Given the description of an element on the screen output the (x, y) to click on. 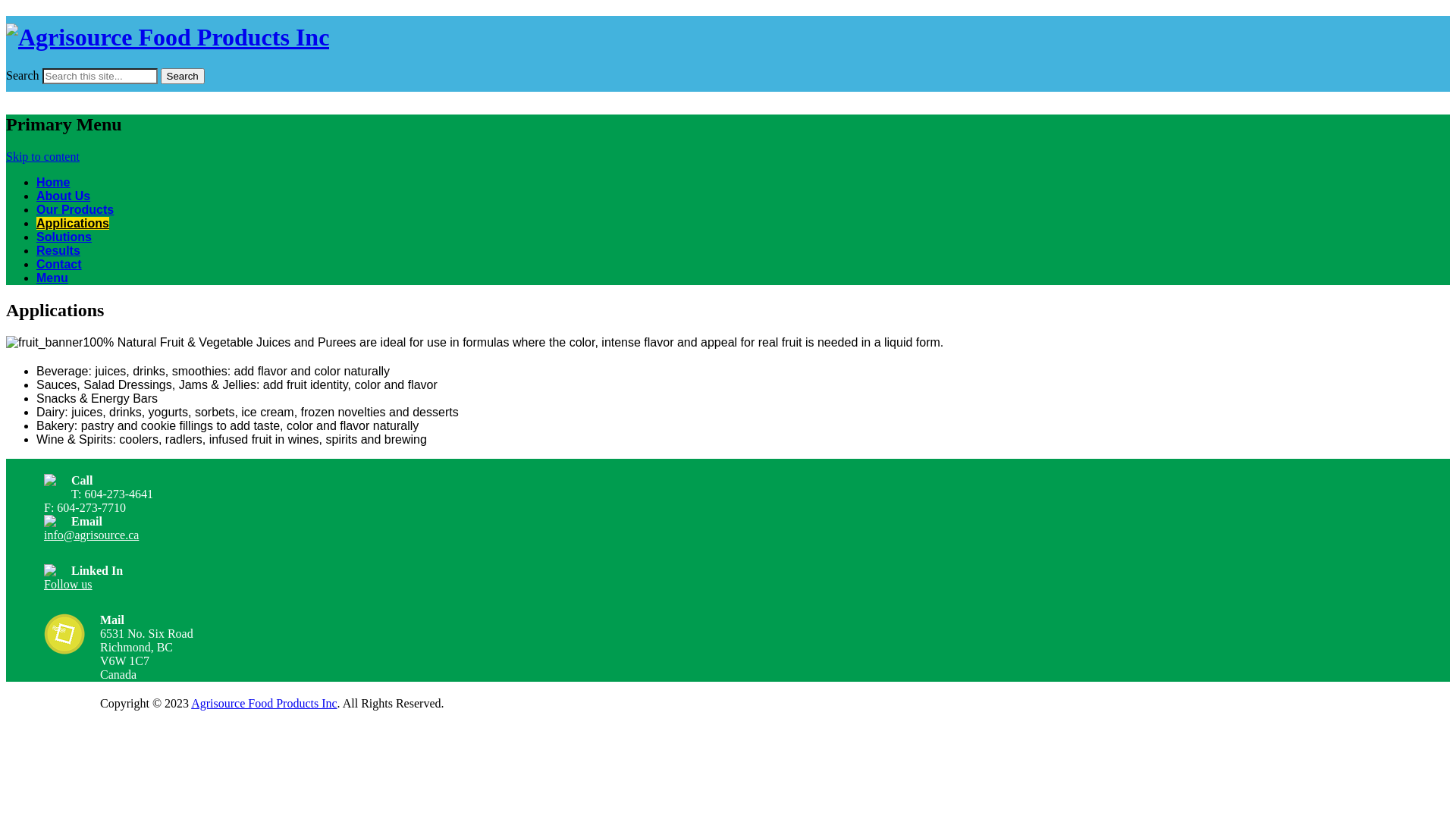
Follow us Element type: text (67, 583)
Contact Element type: text (58, 263)
Search Element type: text (182, 76)
Menu Element type: text (52, 277)
Home Element type: text (52, 181)
Applications Element type: text (72, 222)
info@agrisource.ca Element type: text (90, 533)
About Us Element type: text (63, 195)
Our Products Element type: text (74, 209)
Solutions Element type: text (63, 236)
Agrisource Food Products Inc Element type: hover (167, 36)
Results Element type: text (58, 250)
Agrisource Food Products Inc Element type: text (263, 702)
Agrisource Food Products Inc Element type: text (161, 97)
Skip to content Element type: text (42, 156)
